Given the description of an element on the screen output the (x, y) to click on. 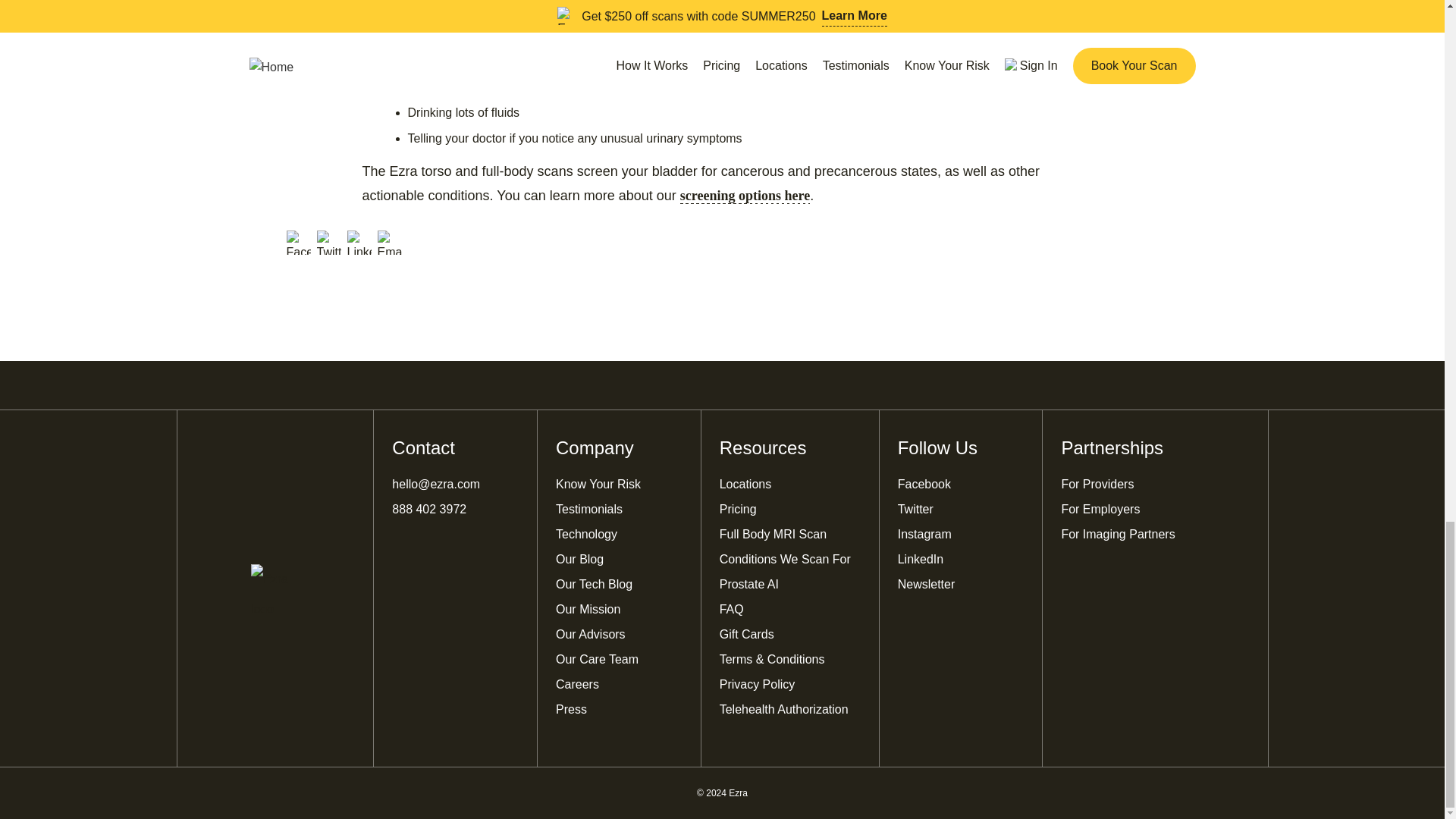
Prostate AI (748, 584)
Privacy Policy (756, 684)
Careers (577, 684)
Our Care Team (597, 659)
Testimonials (589, 509)
Our Blog (580, 559)
Full Body MRI Scan (773, 534)
Our Tech Blog (593, 584)
Technology (586, 534)
Pricing (738, 509)
